Given the description of an element on the screen output the (x, y) to click on. 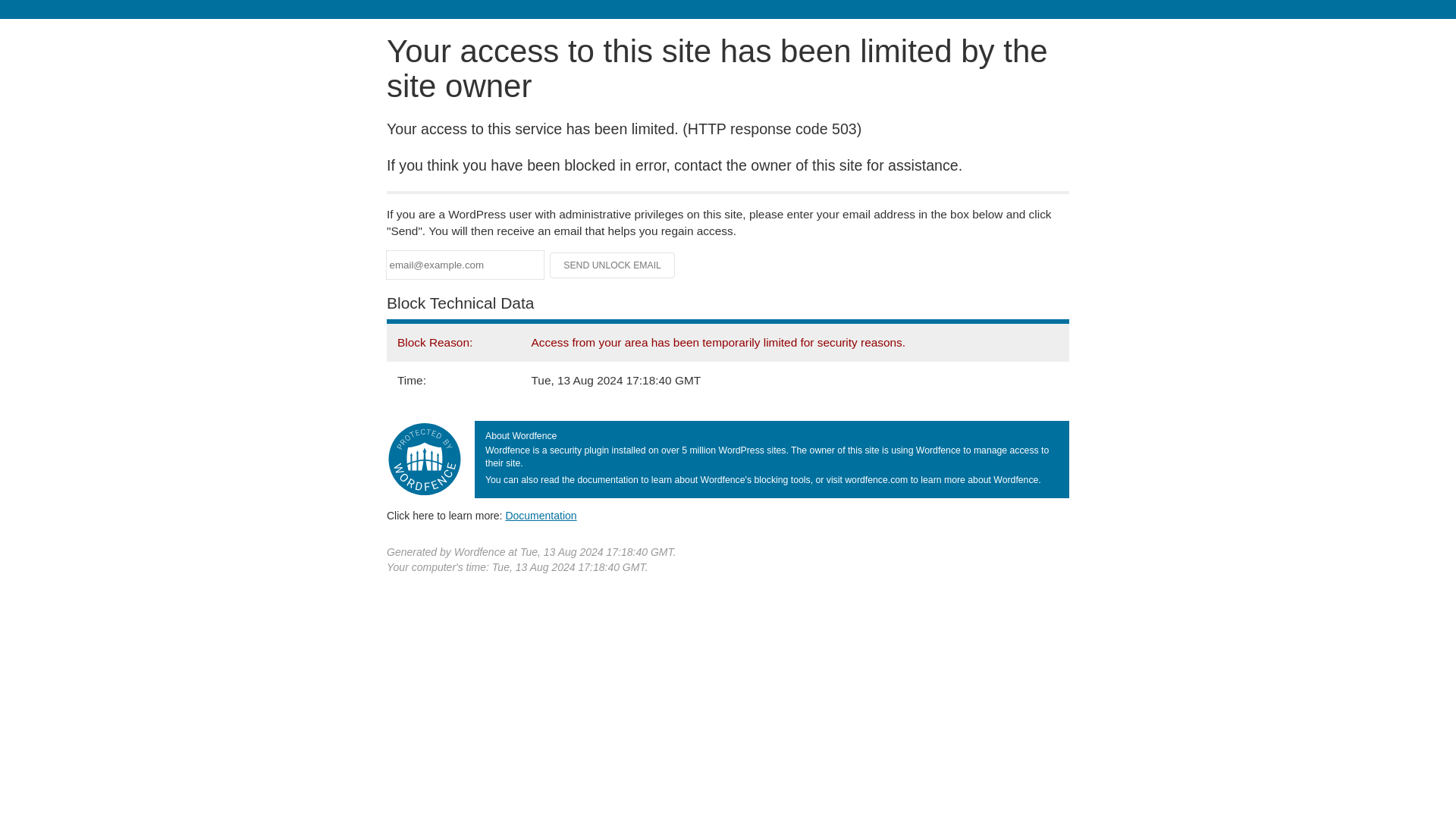
Send Unlock Email (612, 265)
Send Unlock Email (612, 265)
Documentation (540, 515)
